Given the description of an element on the screen output the (x, y) to click on. 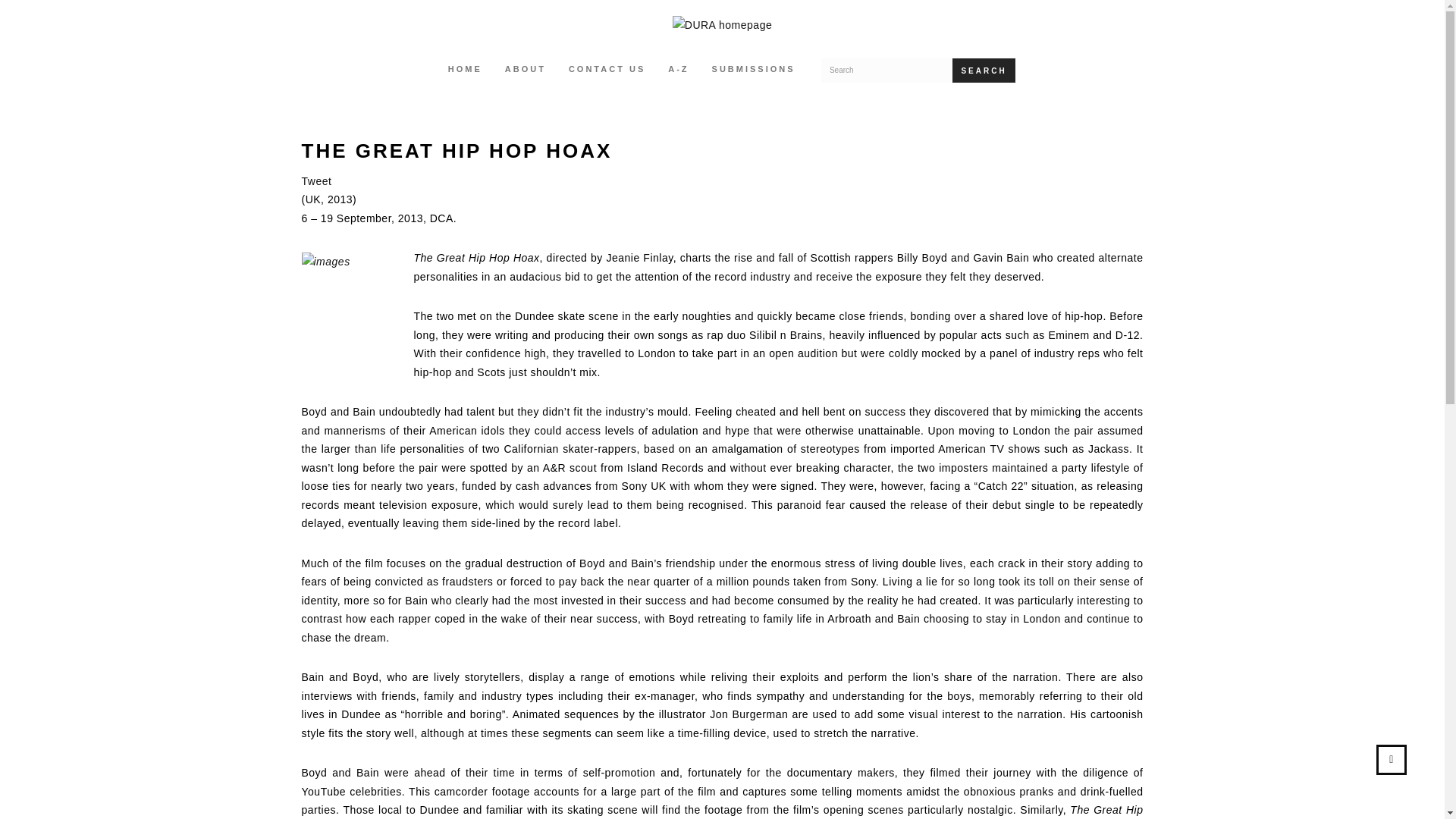
SUBMISSIONS (753, 70)
ABOUT (525, 70)
Tweet (316, 181)
A-Z (678, 70)
CONTACT US (606, 70)
HOME (464, 70)
SEARCH (983, 70)
